Given the description of an element on the screen output the (x, y) to click on. 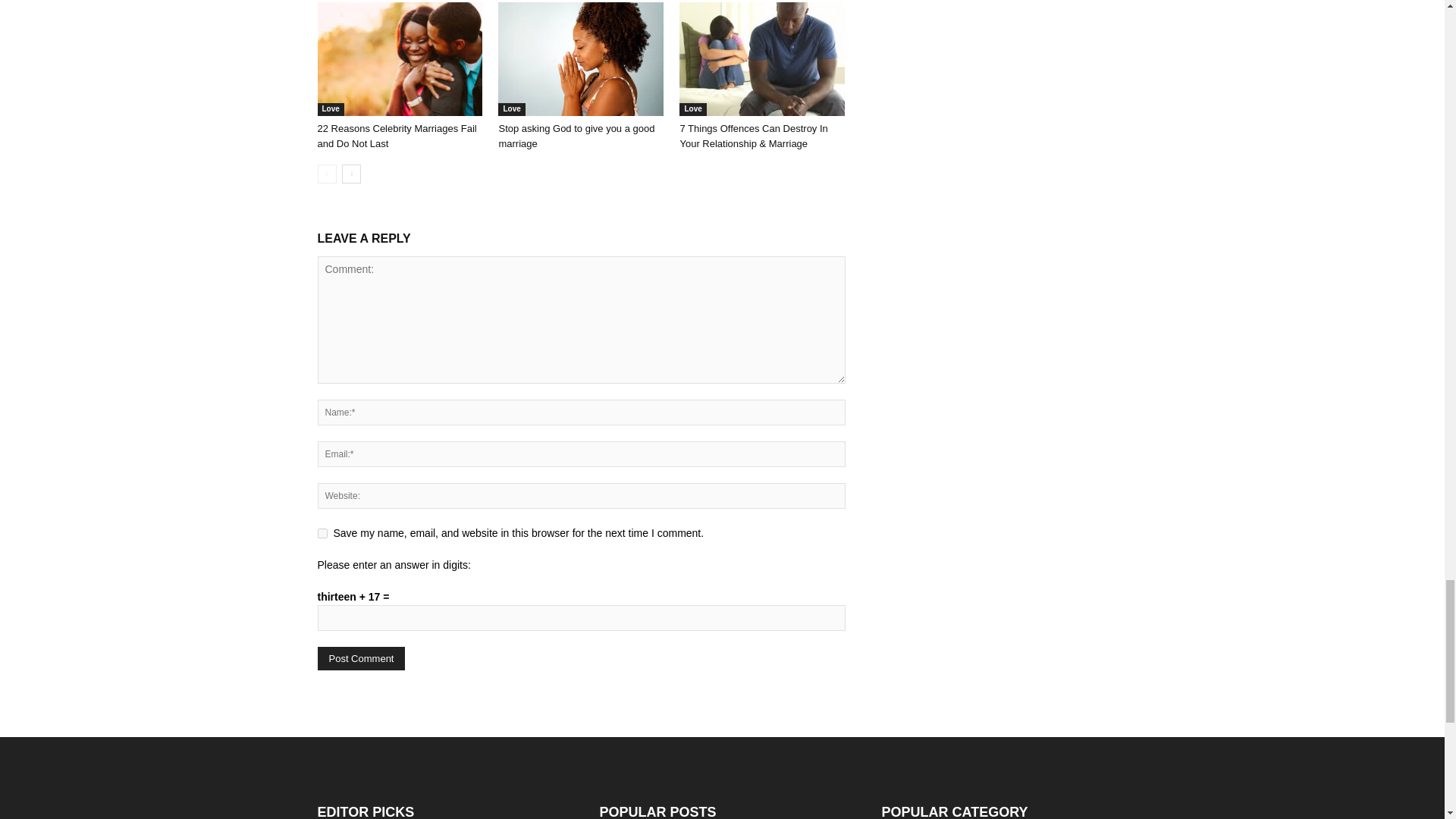
yes (321, 533)
Post Comment (360, 658)
